Given the description of an element on the screen output the (x, y) to click on. 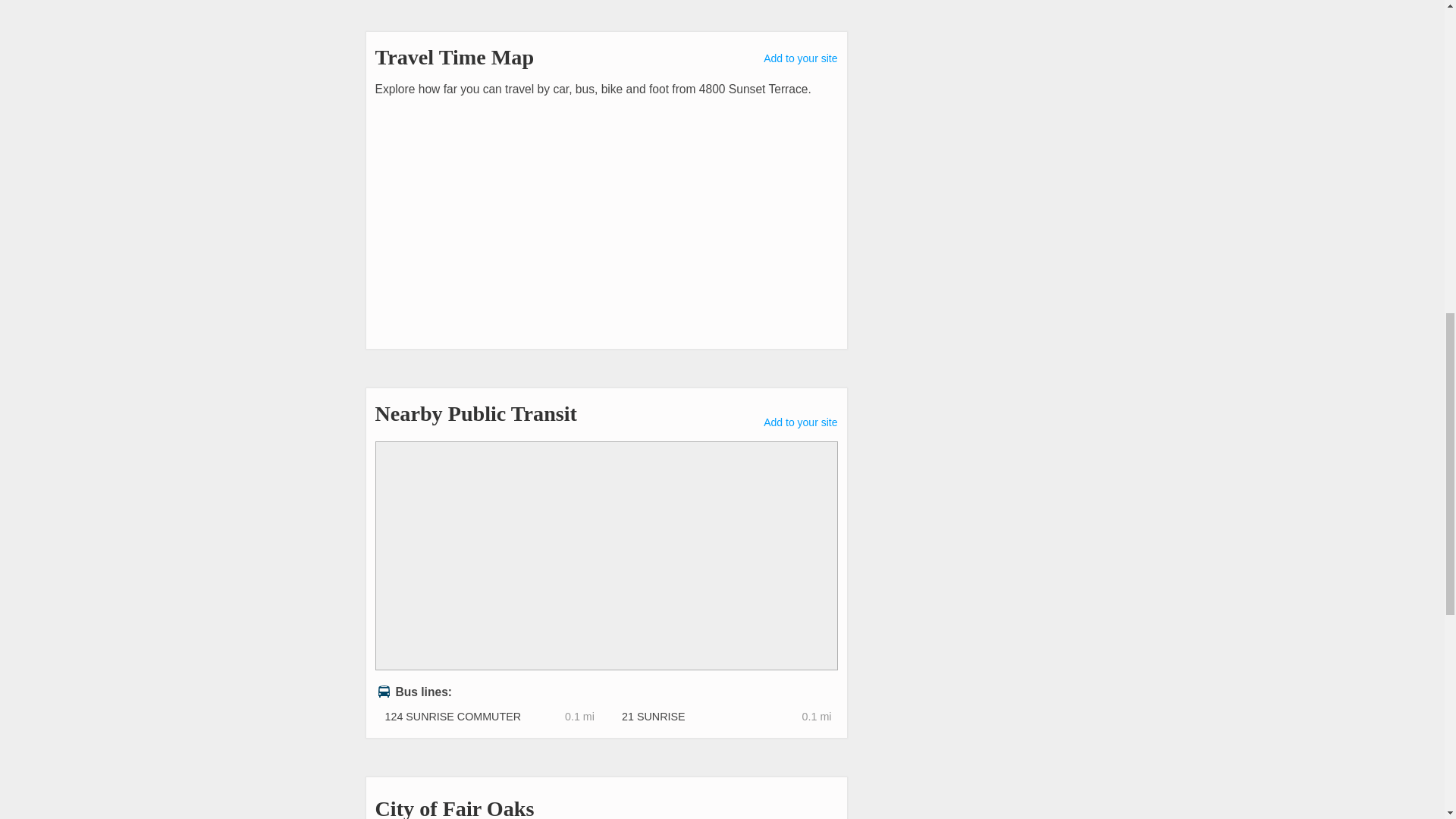
Add to your site (799, 58)
Add to your site (799, 422)
